Given the description of an element on the screen output the (x, y) to click on. 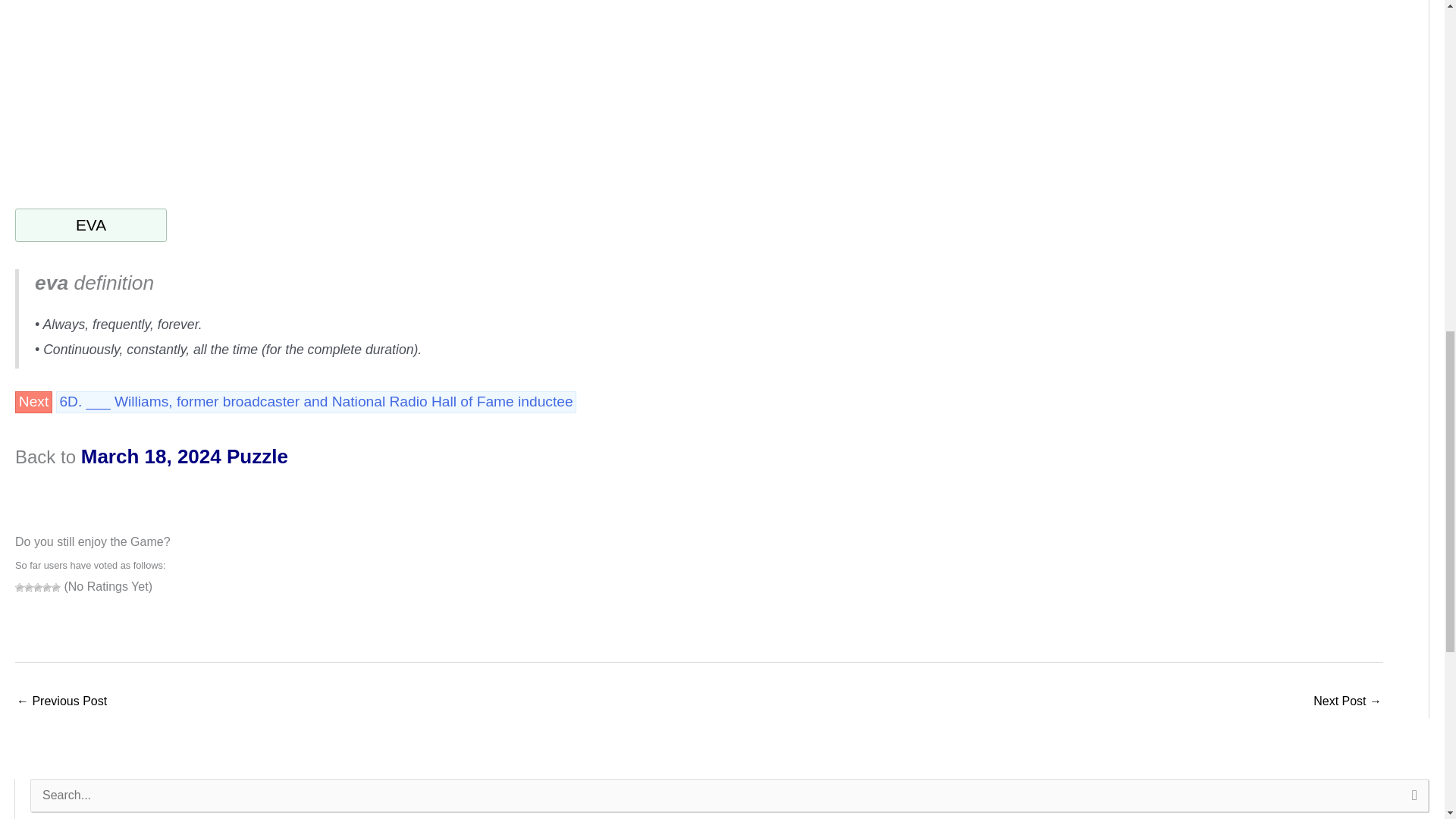
Hula dancer's neckwear Crossword Clue (1347, 702)
4 Stars (46, 587)
Advertisement (141, 85)
5 Stars (55, 587)
2 Stars (28, 587)
March 18, 2024 Puzzle (184, 456)
Word before "Diego" or "Jose" Crossword Clue (61, 702)
1 Star (19, 587)
3 Stars (37, 587)
